Given the description of an element on the screen output the (x, y) to click on. 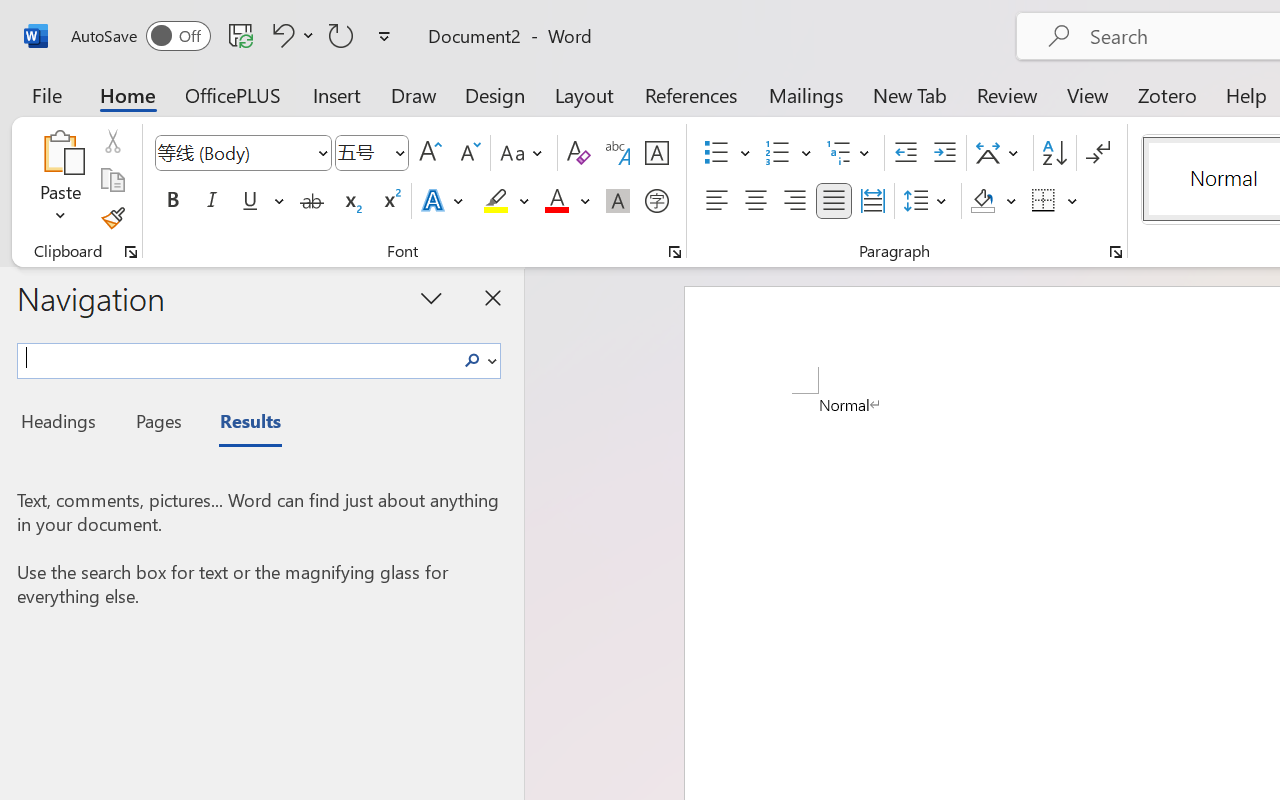
File Tab (46, 94)
Save (241, 35)
Shading RGB(0, 0, 0) (982, 201)
Align Left (716, 201)
Borders (1055, 201)
Phonetic Guide... (618, 153)
Format Painter (112, 218)
Undo Apply Quick Style (280, 35)
Search document (236, 358)
Review (1007, 94)
Align Right (794, 201)
Office Clipboard... (131, 252)
Font Color Red (556, 201)
Customize Quick Access Toolbar (384, 35)
